Given the description of an element on the screen output the (x, y) to click on. 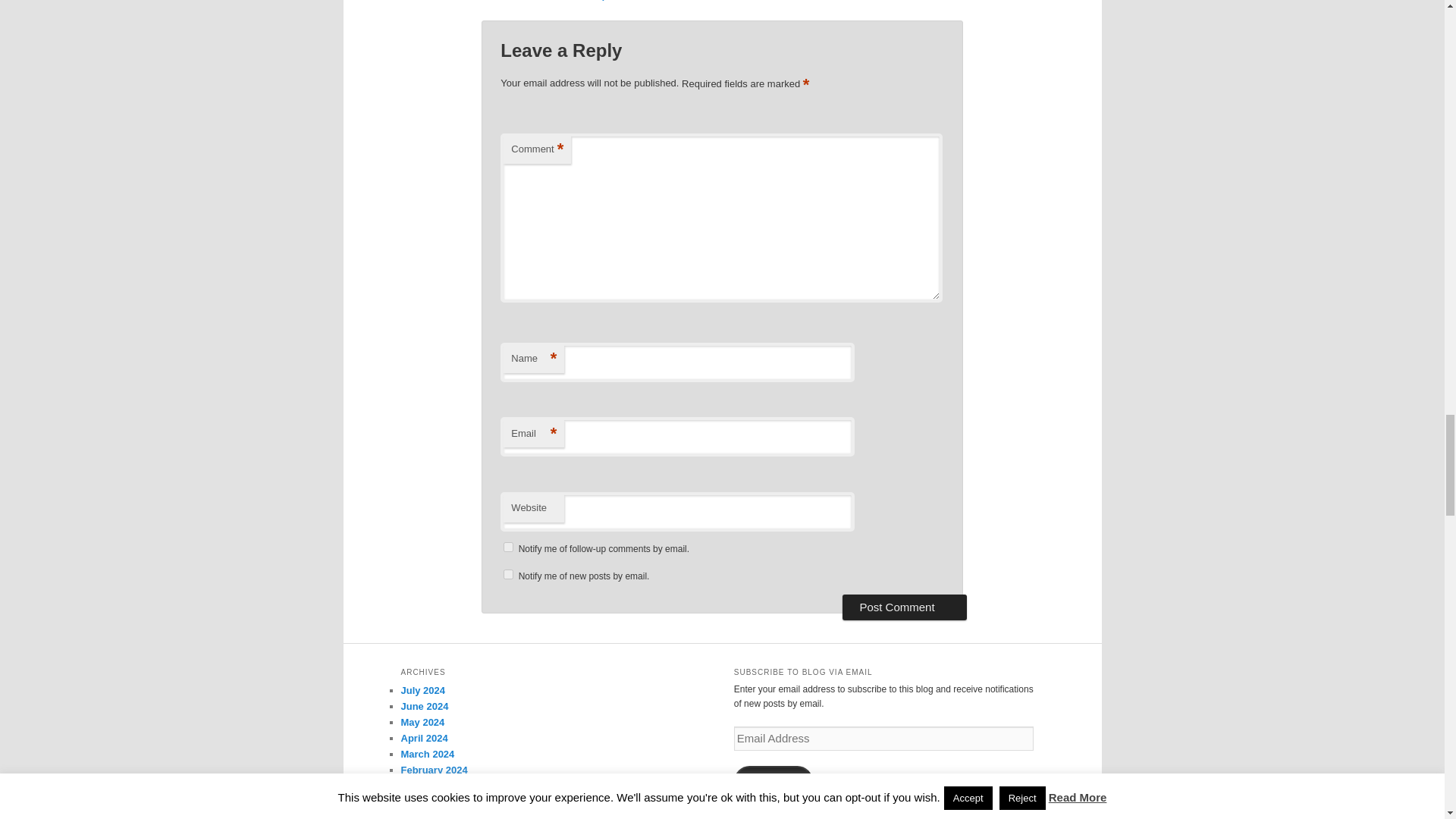
subscribe (508, 574)
subscribe (508, 547)
Post Comment (904, 606)
